Given the description of an element on the screen output the (x, y) to click on. 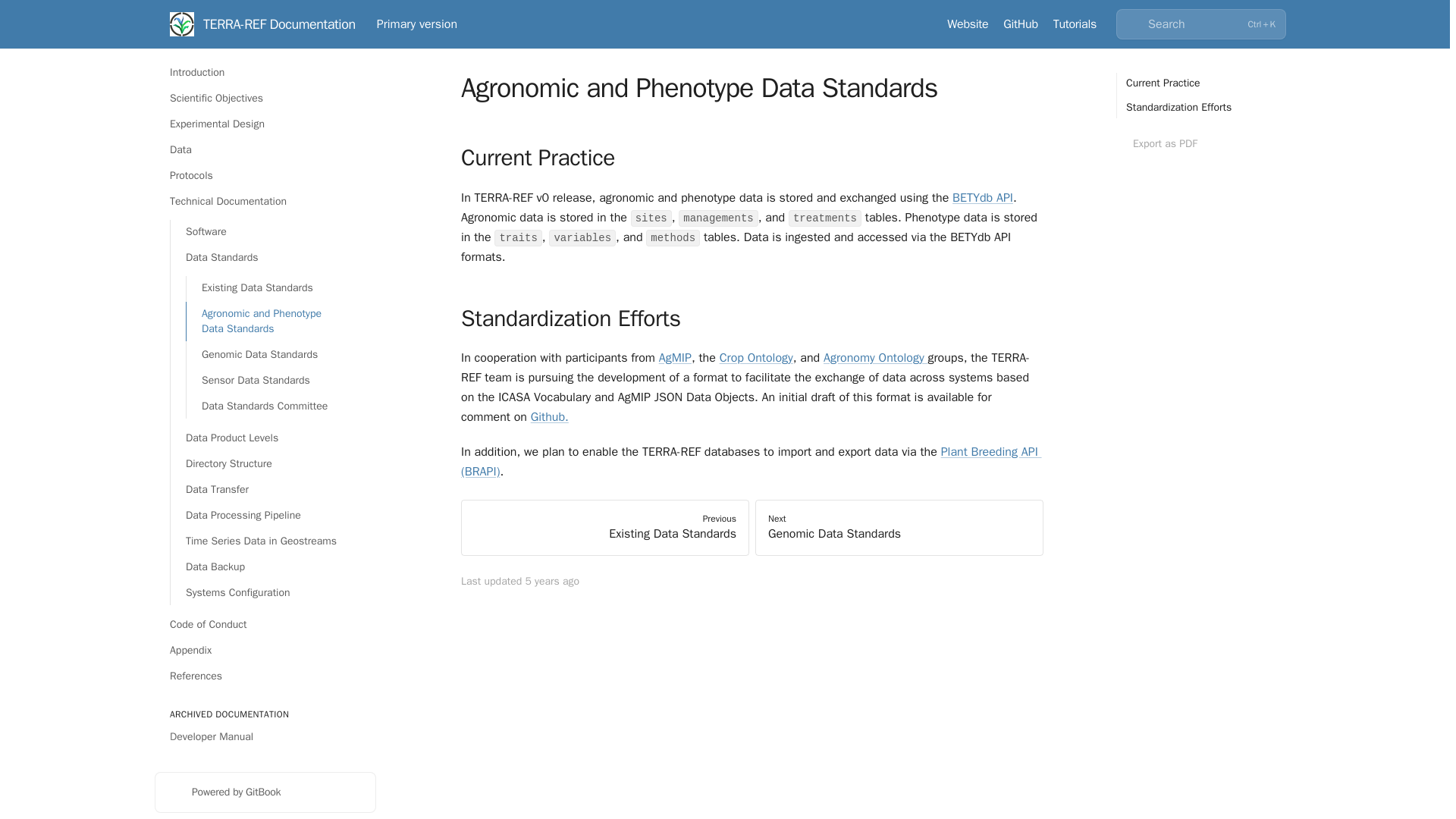
Tutorials (1074, 24)
Experimental Design (264, 124)
Protocols (264, 175)
Scientific Objectives (264, 98)
TERRA-REF Documentation (262, 24)
Data (264, 150)
Introduction (264, 72)
